Given the description of an element on the screen output the (x, y) to click on. 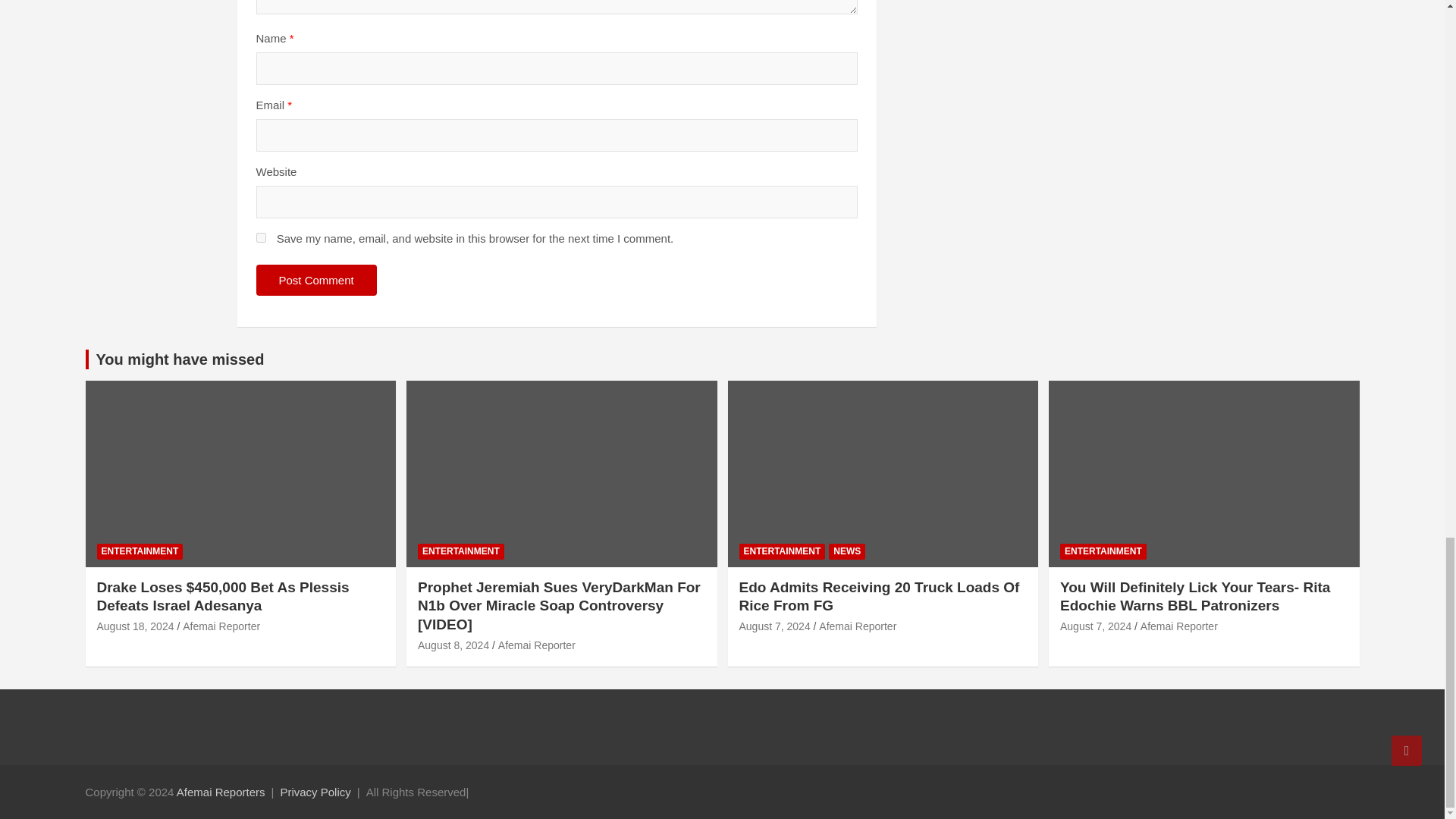
Post Comment (316, 279)
Post Comment (316, 279)
yes (261, 237)
